Given the description of an element on the screen output the (x, y) to click on. 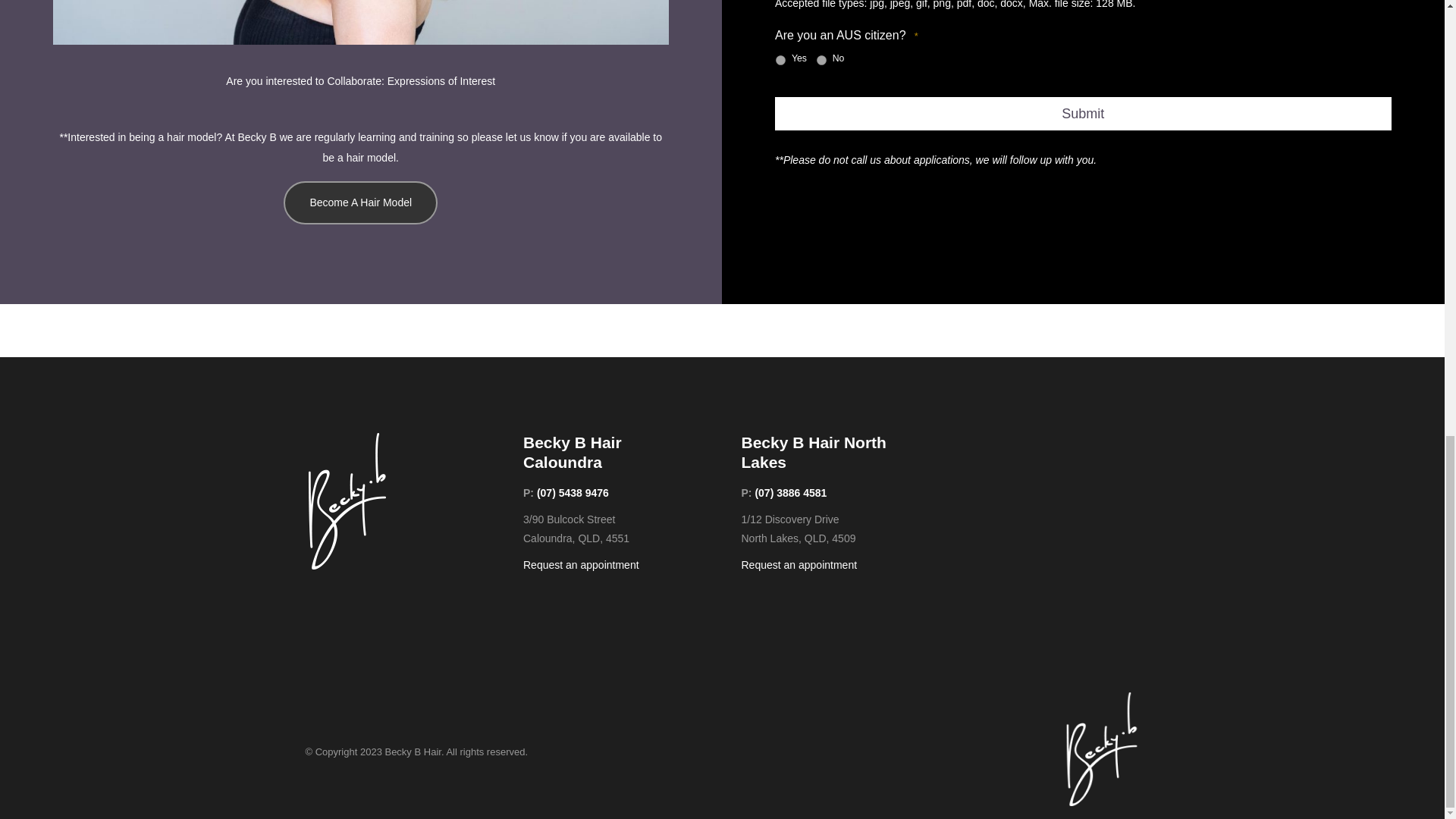
No (821, 60)
Submit (1082, 113)
Yes (781, 60)
